Given the description of an element on the screen output the (x, y) to click on. 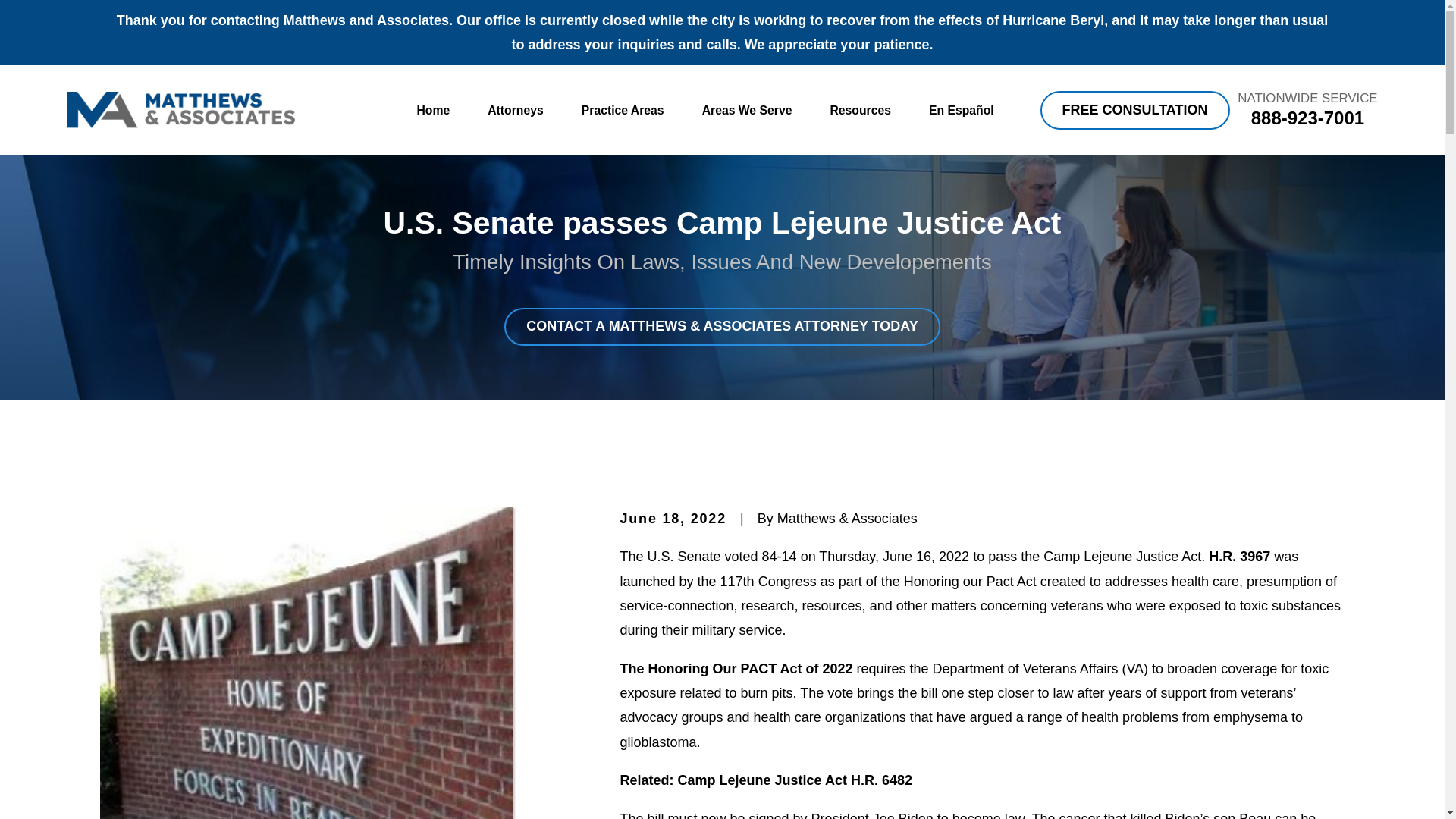
Practice Areas (621, 110)
Attorneys (515, 110)
Home (180, 109)
